Given the description of an element on the screen output the (x, y) to click on. 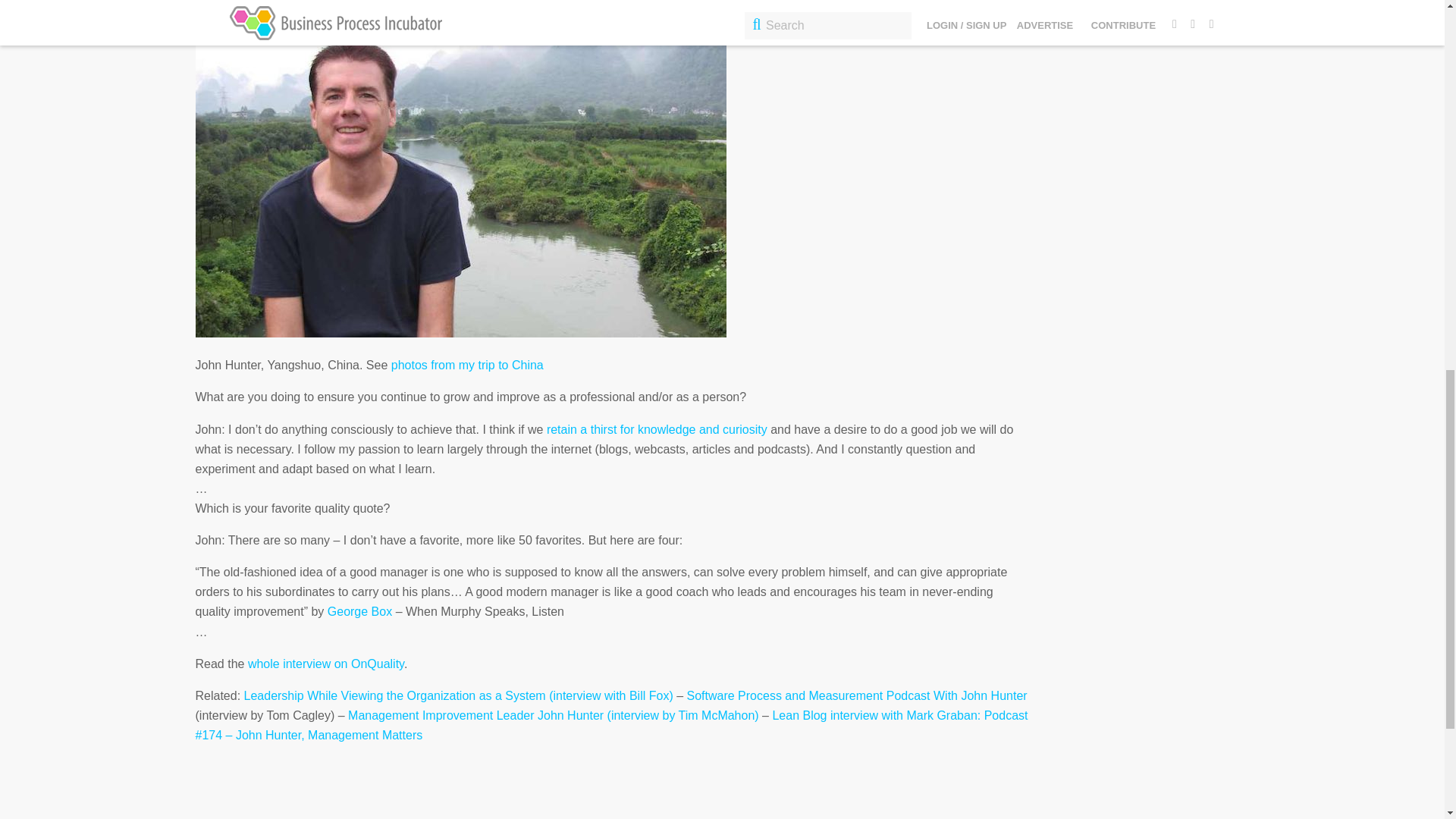
whole interview on OnQuality (325, 663)
George Box (359, 611)
retain a thirst for knowledge and curiosity (657, 429)
photos from my trip to China (467, 364)
Software Process and Measurement Podcast With John Hunter (857, 695)
